Given the description of an element on the screen output the (x, y) to click on. 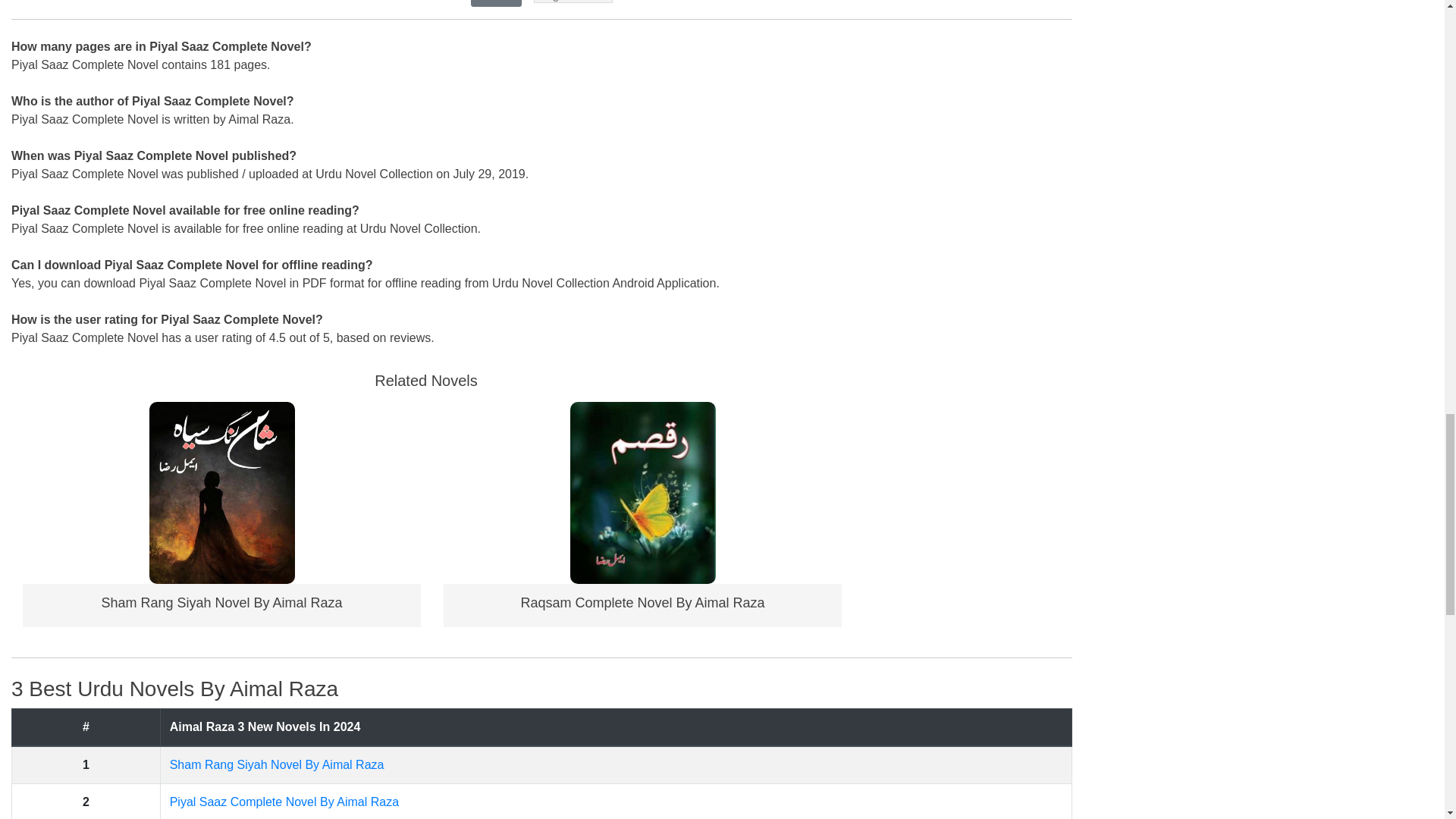
Sham Rang Siyah Novel By Aimal Raza (277, 764)
Raqsam Complete Novel By Aimal Raza (643, 492)
Next (495, 3)
Piyal Saaz Complete Novel By Aimal Raza (284, 801)
Raqsam Complete Novel By Aimal Raza (641, 602)
Next (502, 0)
Raqsam Complete Novel By Aimal Raza (641, 602)
Sham Rang Siyah Novel By Aimal Raza (221, 492)
Sham Rang Siyah Novel By Aimal Raza (221, 602)
Sham Rang Siyah Novel By Aimal Raza (221, 602)
